Given the description of an element on the screen output the (x, y) to click on. 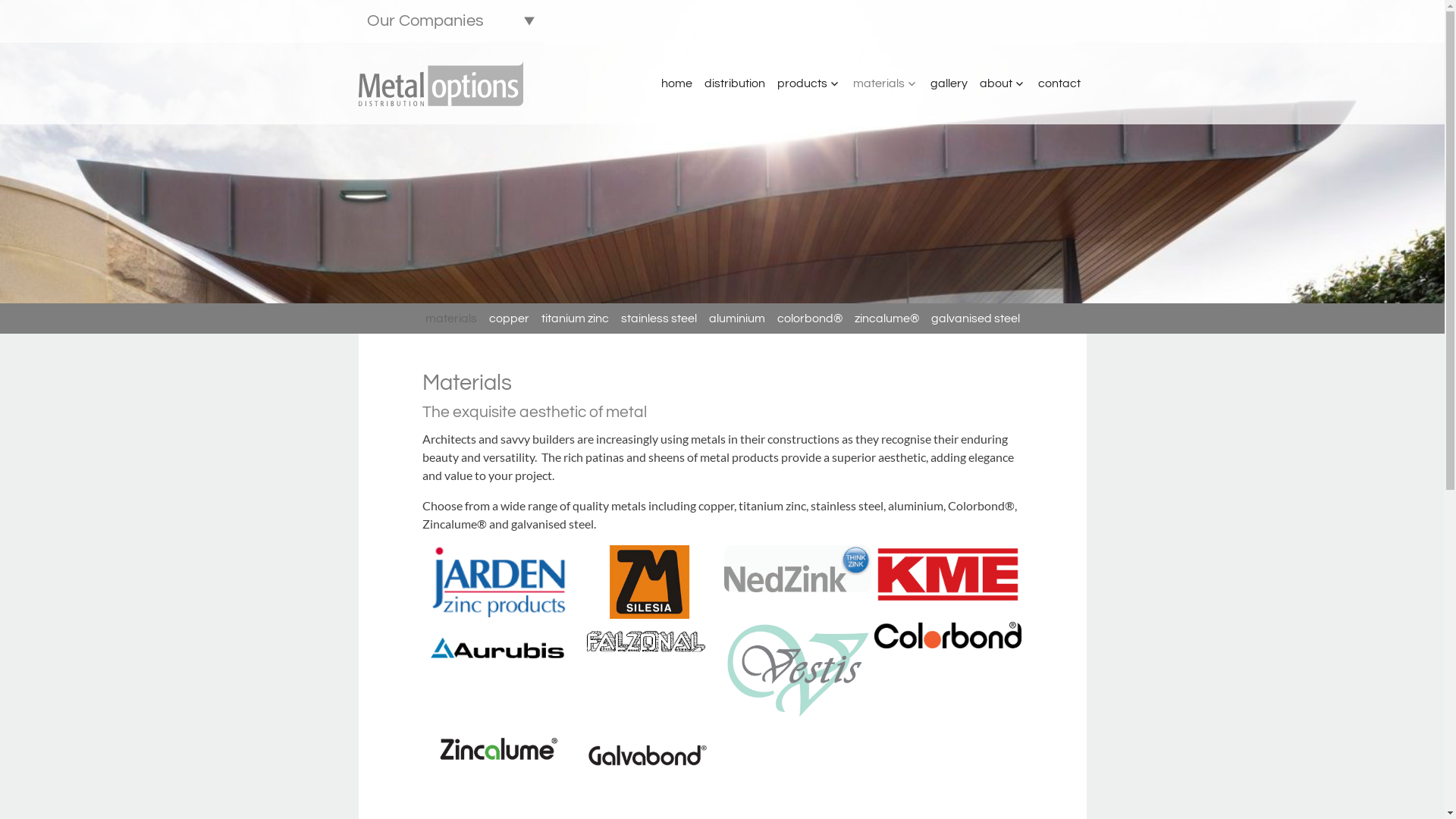
contact Element type: text (1058, 83)
about Element type: text (1002, 83)
distribution Element type: text (733, 83)
aluminium Element type: text (736, 318)
Our Companies Element type: text (449, 20)
materials Element type: text (450, 318)
materials Element type: text (884, 83)
Return to homepage Element type: hover (440, 83)
products Element type: text (808, 83)
stainless steel Element type: text (658, 318)
gallery Element type: text (947, 83)
copper Element type: text (508, 318)
home Element type: text (676, 83)
titanium zinc Element type: text (575, 318)
galvanised steel Element type: text (975, 318)
